Given the description of an element on the screen output the (x, y) to click on. 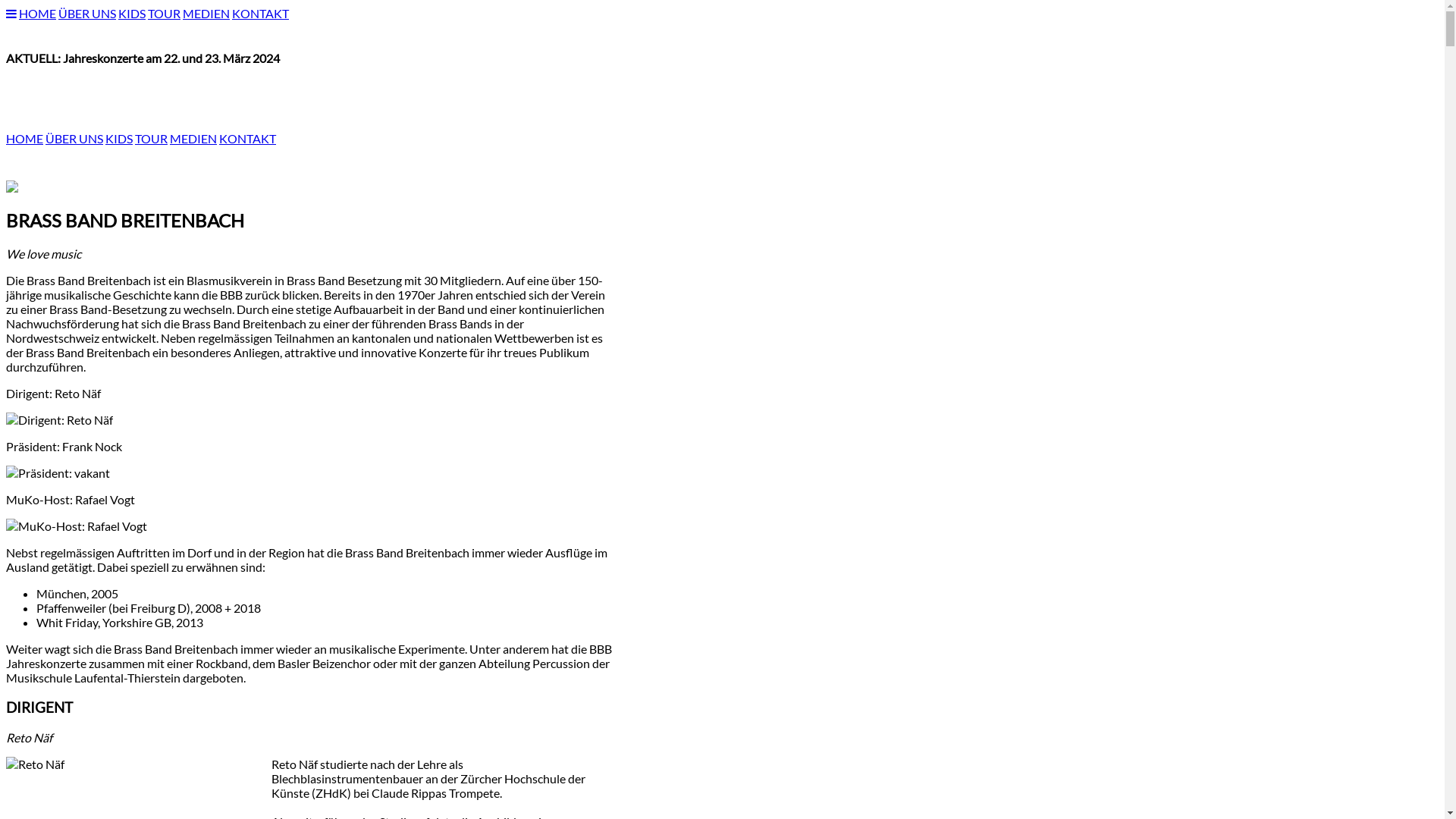
MEDIEN Element type: text (192, 138)
KIDS Element type: text (131, 13)
KONTAKT Element type: text (247, 138)
Toggle Navigation Menu Element type: hover (11, 13)
HOME Element type: text (24, 138)
TOUR Element type: text (150, 138)
TOUR Element type: text (163, 13)
MEDIEN Element type: text (205, 13)
KONTAKT Element type: text (260, 13)
HOME Element type: text (37, 13)
KIDS Element type: text (118, 138)
